Given the description of an element on the screen output the (x, y) to click on. 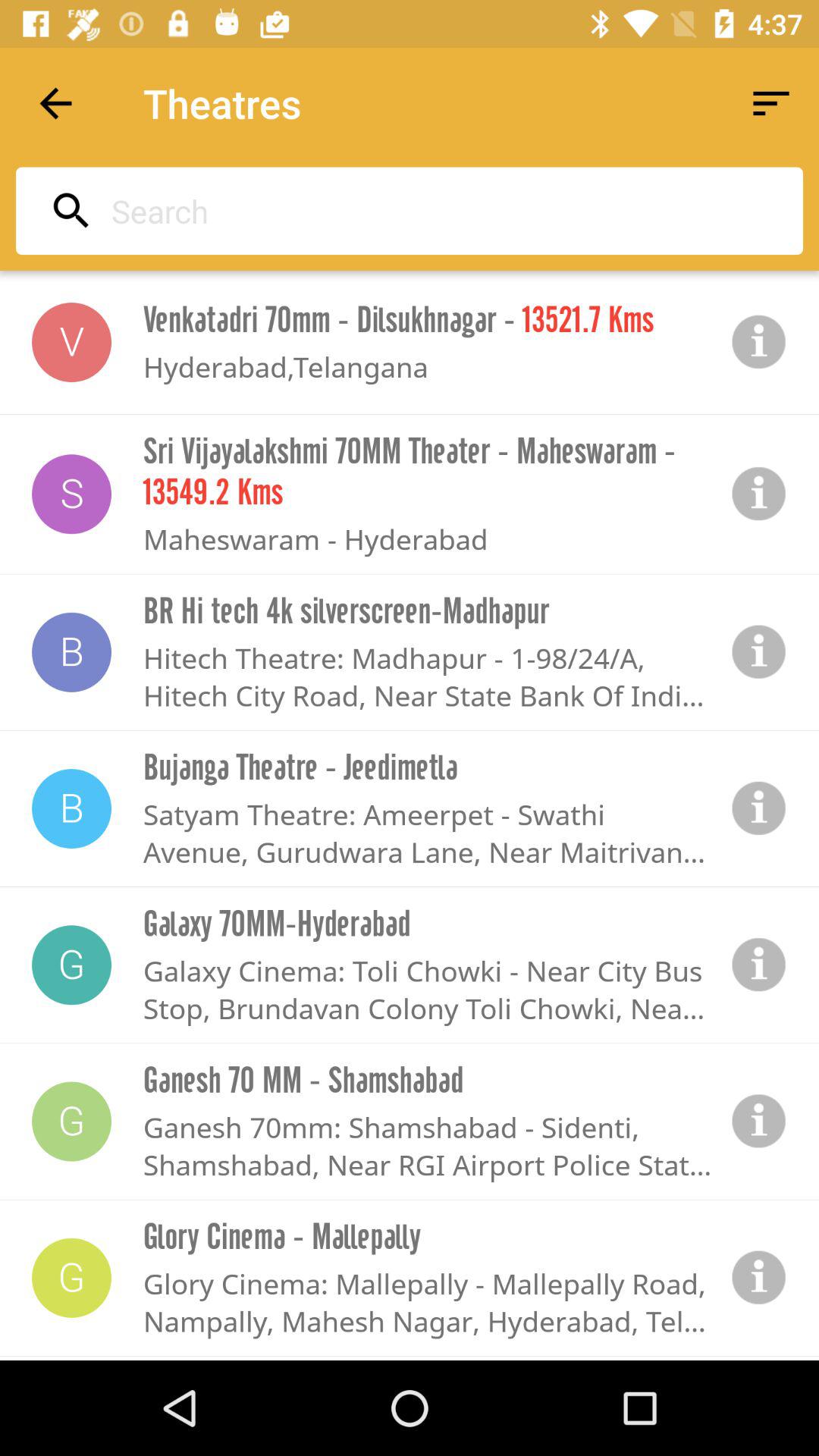
additional info (759, 1121)
